Given the description of an element on the screen output the (x, y) to click on. 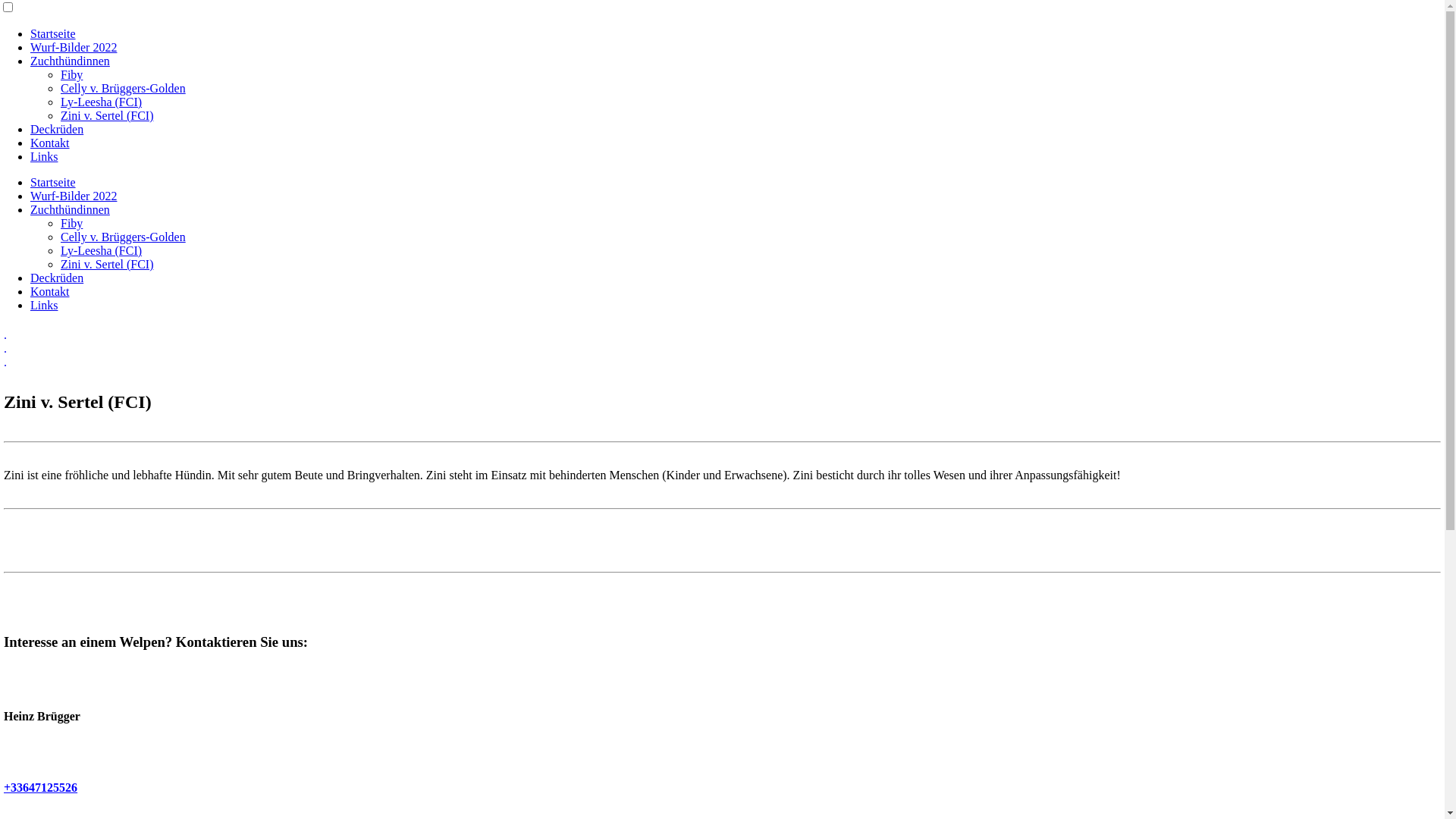
Zini v. Sertel (FCI) Element type: text (106, 115)
Fiby Element type: text (71, 222)
Zini v. Sertel (FCI) Element type: text (106, 263)
Startseite Element type: text (52, 33)
.
.
. Element type: text (721, 348)
Wurf-Bilder 2022 Element type: text (73, 46)
Links Element type: text (43, 304)
Ly-Leesha (FCI) Element type: text (100, 250)
Kontakt Element type: text (49, 291)
Ly-Leesha (FCI) Element type: text (100, 101)
Kontakt Element type: text (49, 142)
Wurf-Bilder 2022 Element type: text (73, 195)
+33647125526 Element type: text (40, 787)
Fiby Element type: text (71, 74)
Links Element type: text (43, 156)
Startseite Element type: text (52, 181)
